Given the description of an element on the screen output the (x, y) to click on. 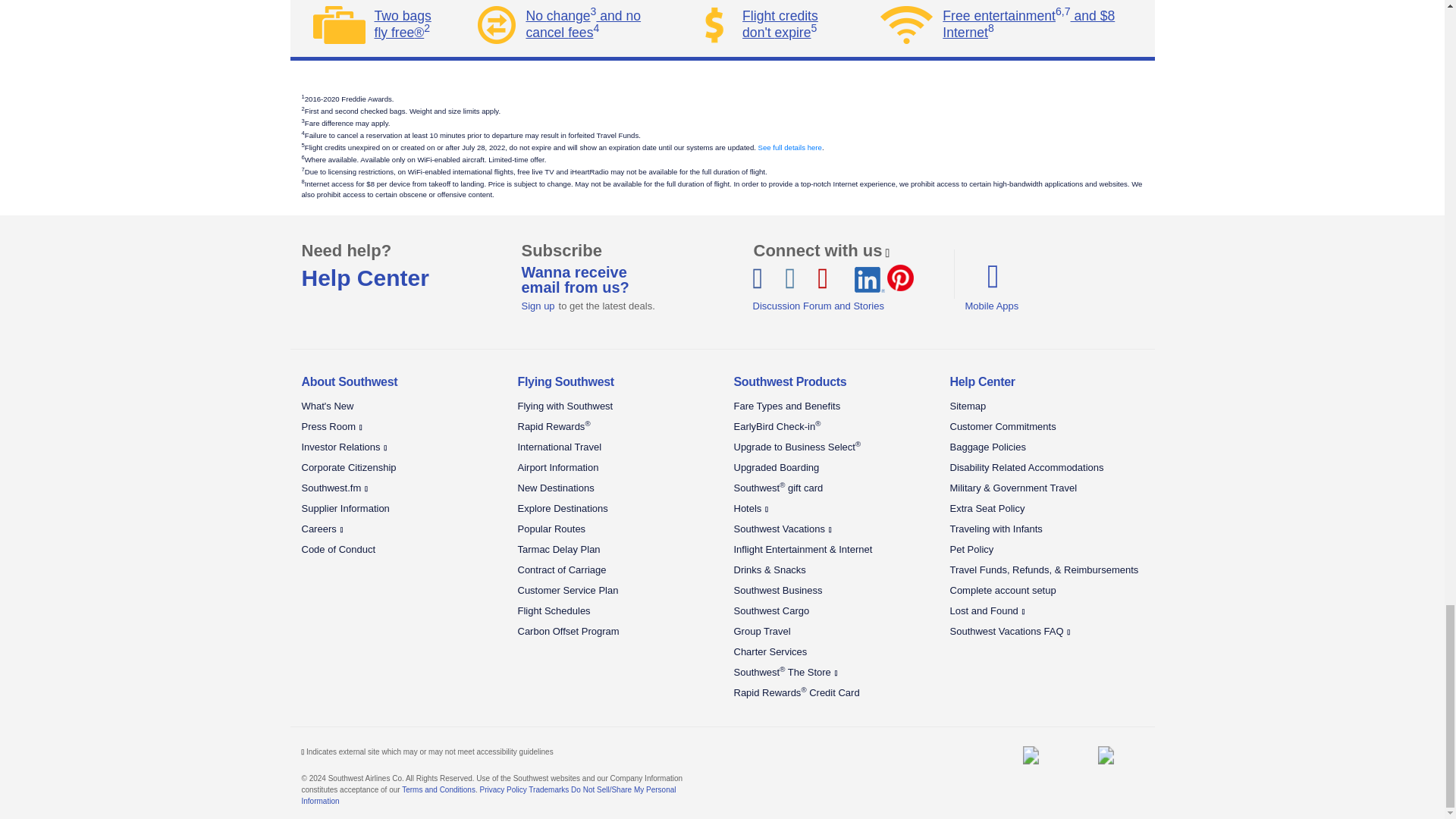
Southwest Business  (1030, 755)
Southwest Cargo (1104, 755)
